Given the description of an element on the screen output the (x, y) to click on. 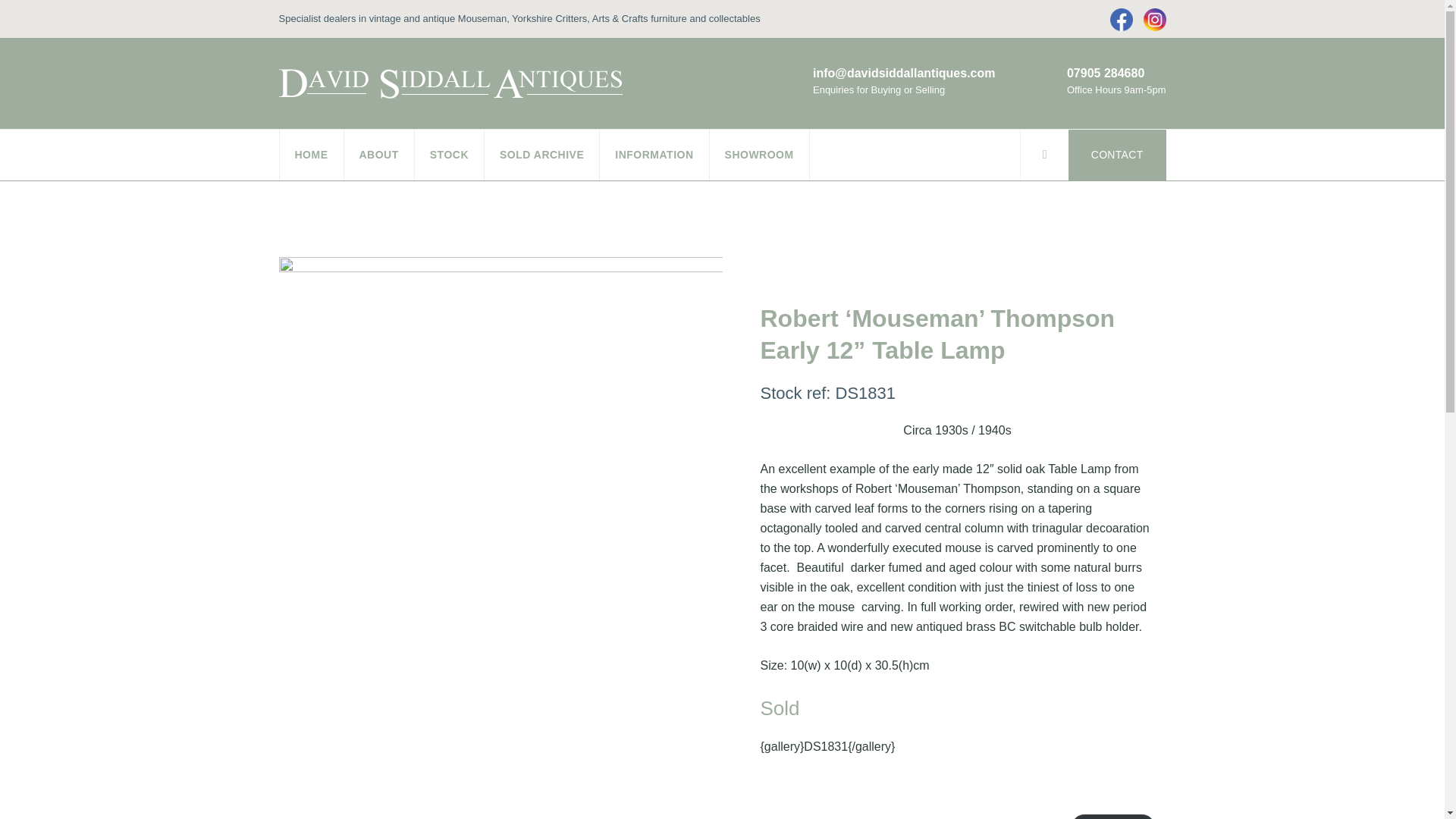
CONTACT (1117, 154)
SOLD ARCHIVE (541, 154)
David Siddall Antiques (451, 82)
SHOWROOM (759, 154)
INFORMATION (653, 154)
